Given the description of an element on the screen output the (x, y) to click on. 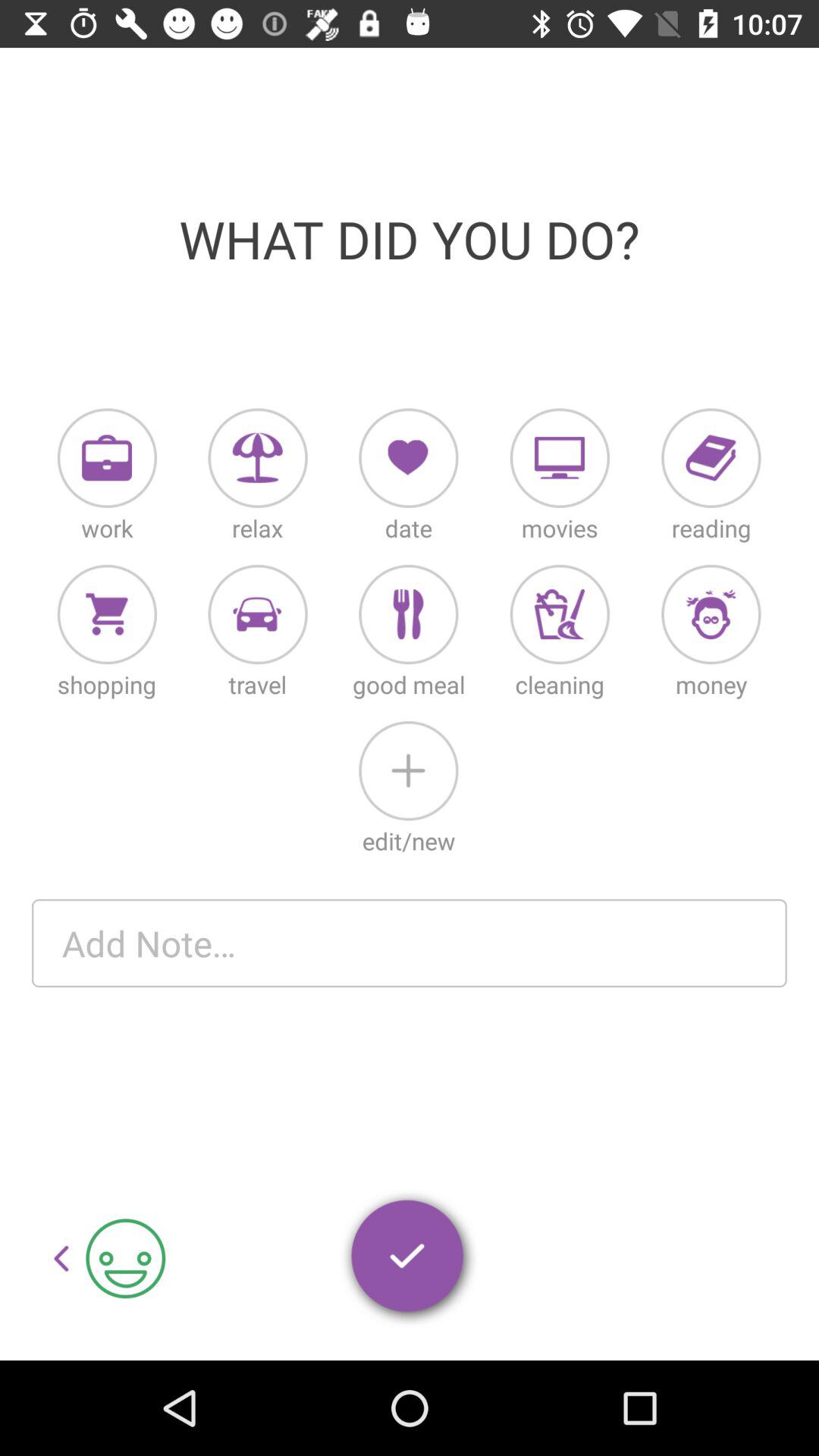
enter meal (408, 614)
